Given the description of an element on the screen output the (x, y) to click on. 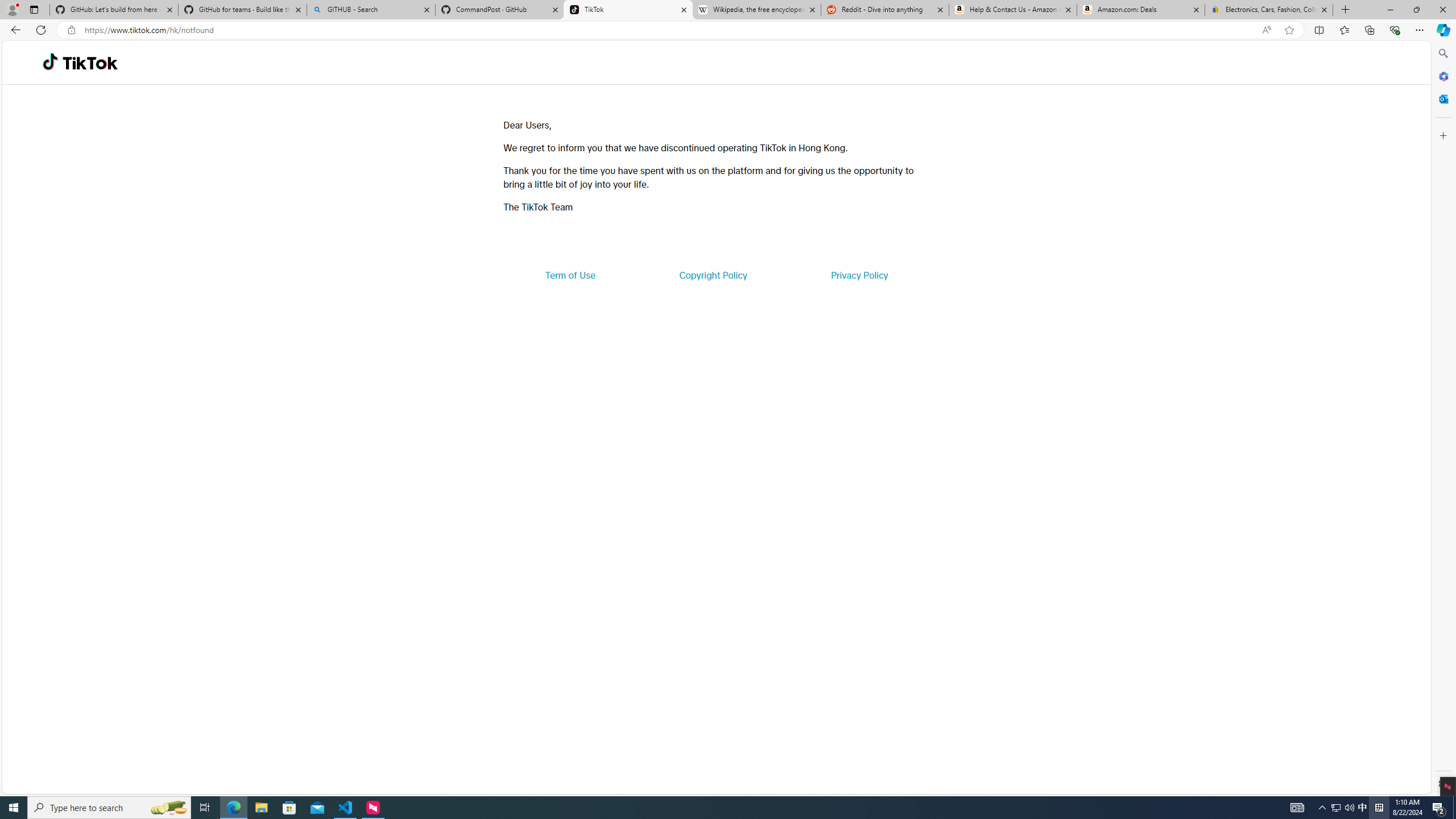
GITHUB - Search (370, 9)
